Given the description of an element on the screen output the (x, y) to click on. 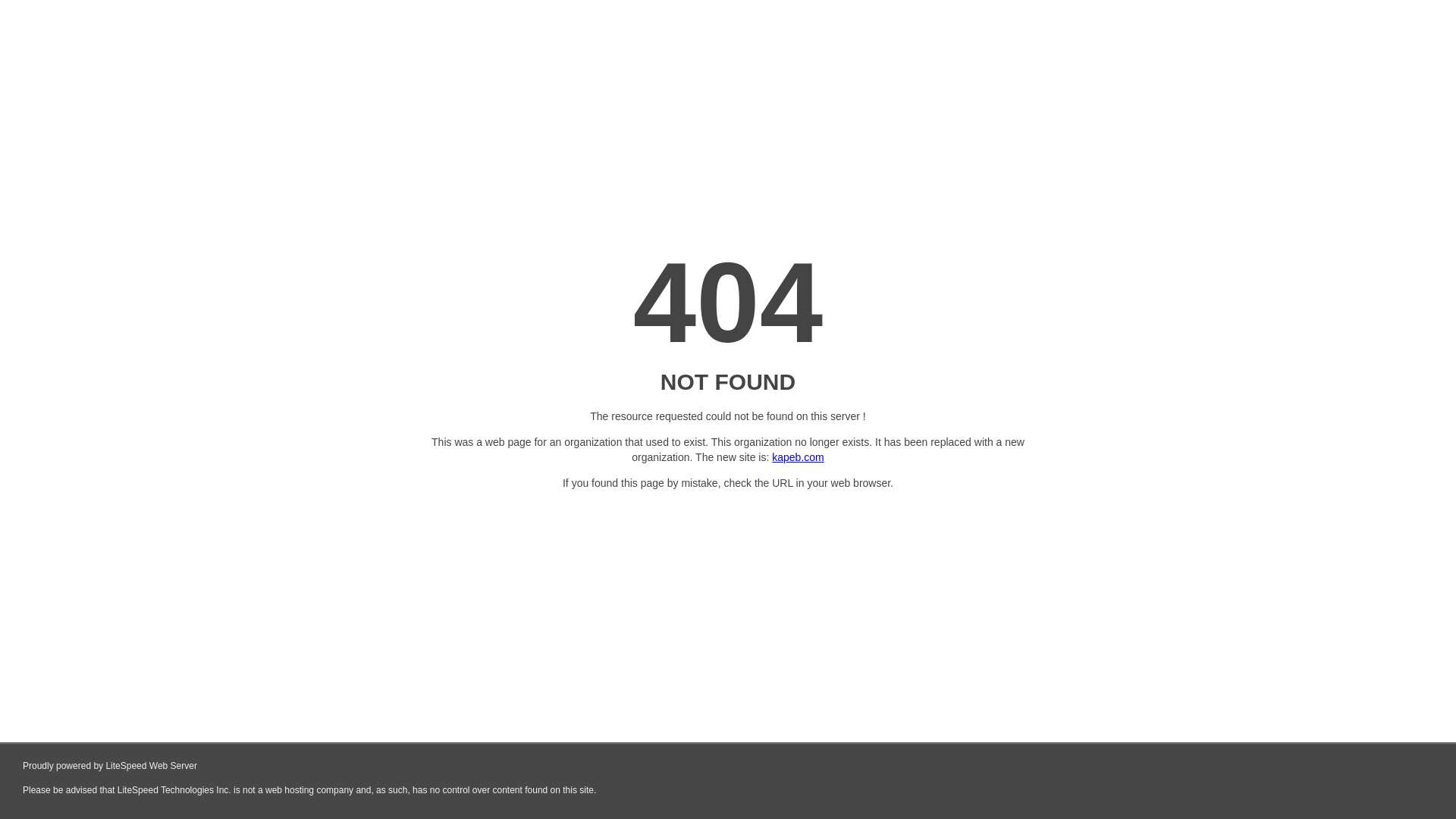
kapeb.com (797, 457)
